Given the description of an element on the screen output the (x, y) to click on. 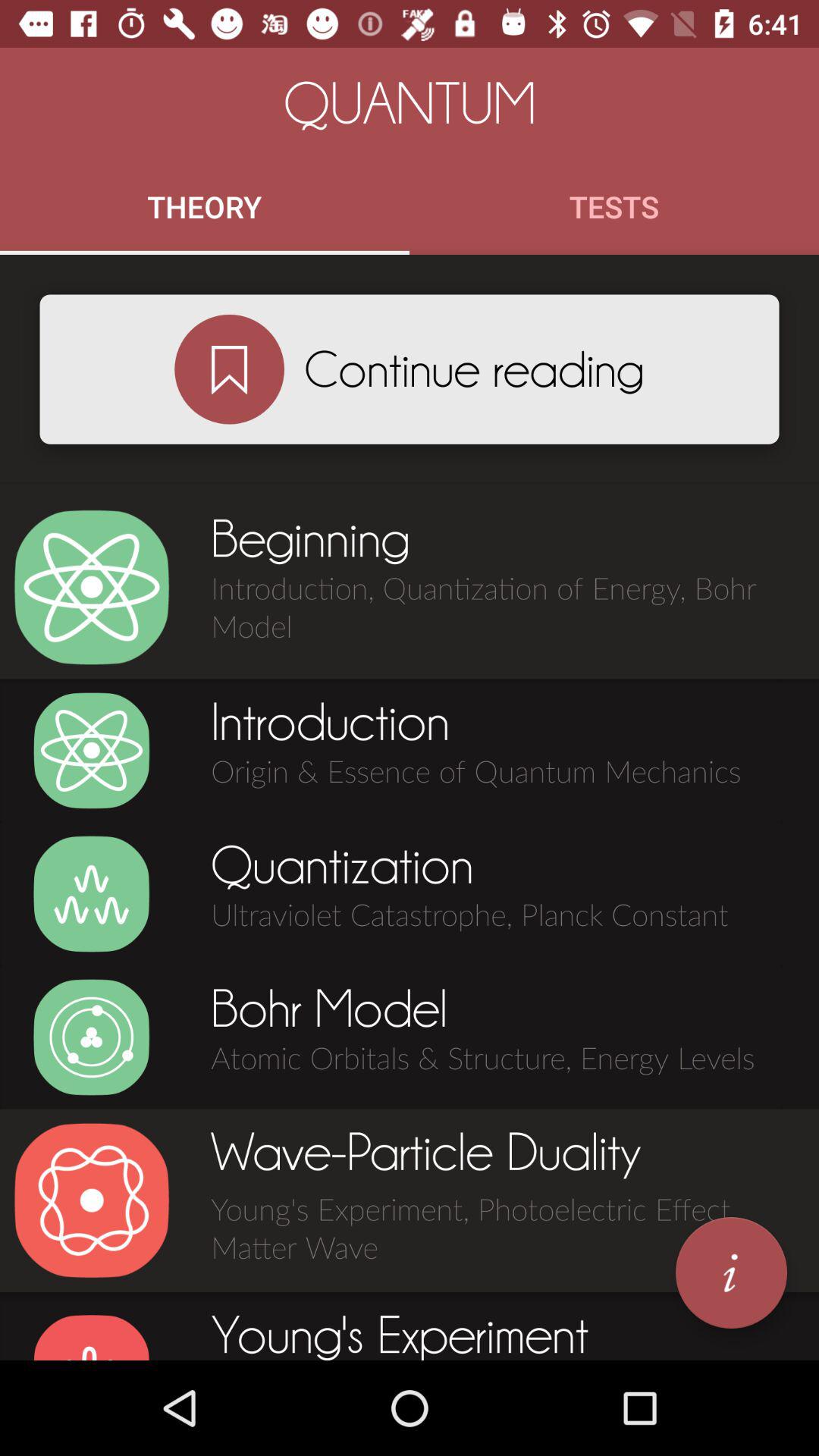
bohr model (91, 1037)
